Given the description of an element on the screen output the (x, y) to click on. 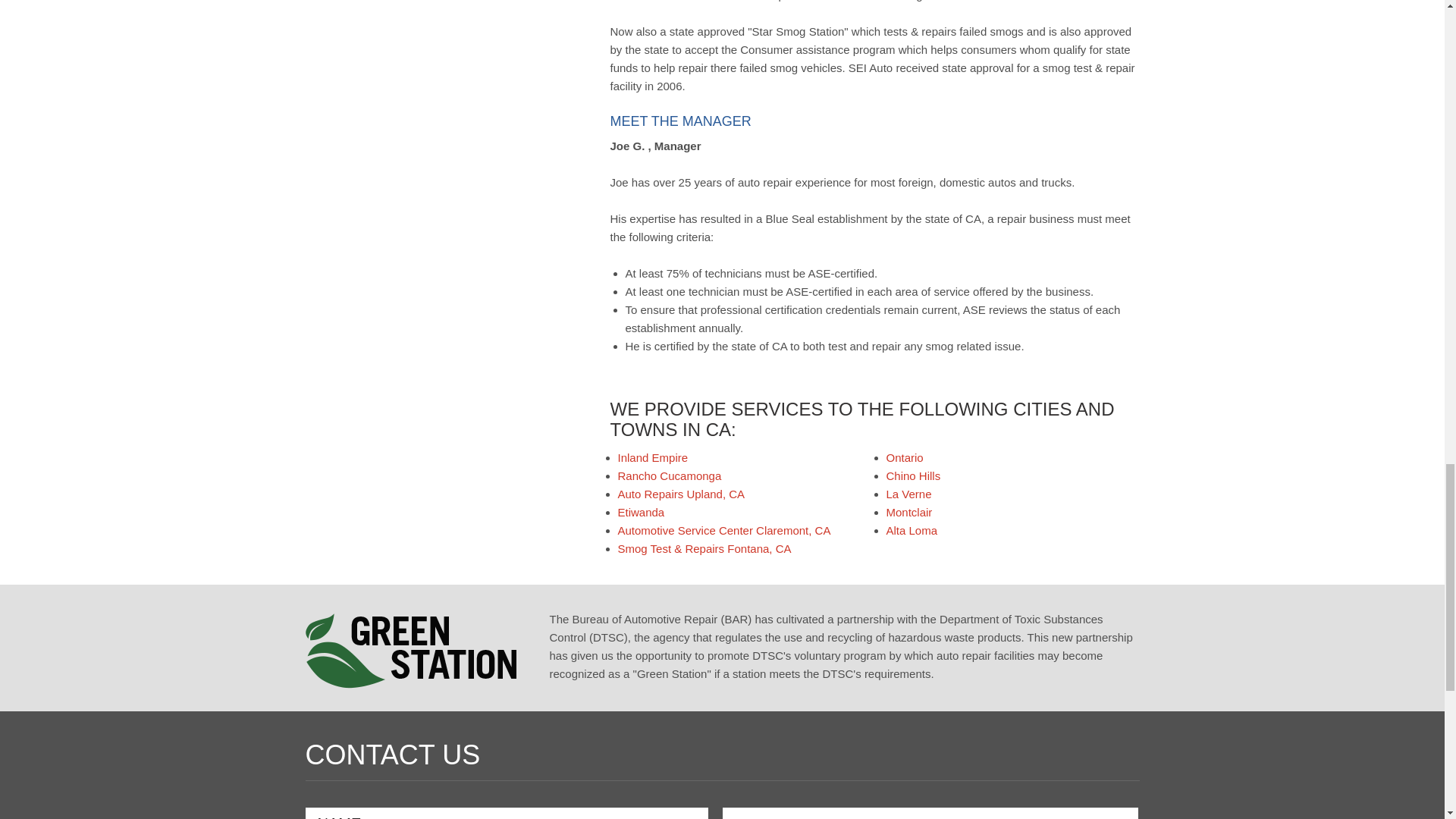
Alta Loma (911, 530)
Auto Repairs Upland, CA (680, 493)
La Verne (908, 493)
Montclair (908, 512)
Chino Hills (912, 475)
Inland Empire (652, 457)
Ontario (904, 457)
Rancho Cucamonga (668, 475)
Etiwanda (640, 512)
Automotive Service Center Claremont, CA (723, 530)
